Given the description of an element on the screen output the (x, y) to click on. 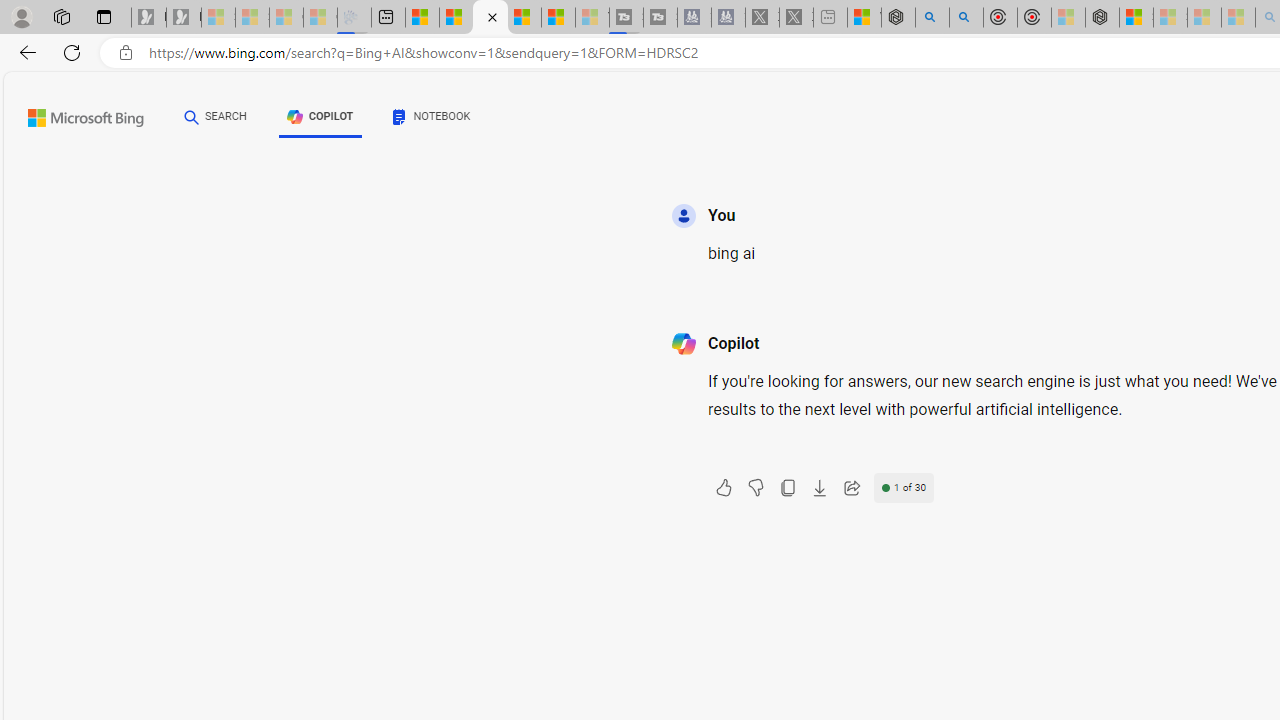
X - Sleeping (795, 17)
New tab - Sleeping (830, 17)
Microsoft Start (557, 17)
poe ++ standard - Search (966, 17)
Newsletter Sign Up - Sleeping (183, 17)
Export (819, 487)
Nordace - Nordace Siena Is Not An Ordinary Backpack (1101, 17)
Chat (191, 116)
View site information (125, 53)
Back to Bing search (73, 113)
SEARCH (215, 116)
